Given the description of an element on the screen output the (x, y) to click on. 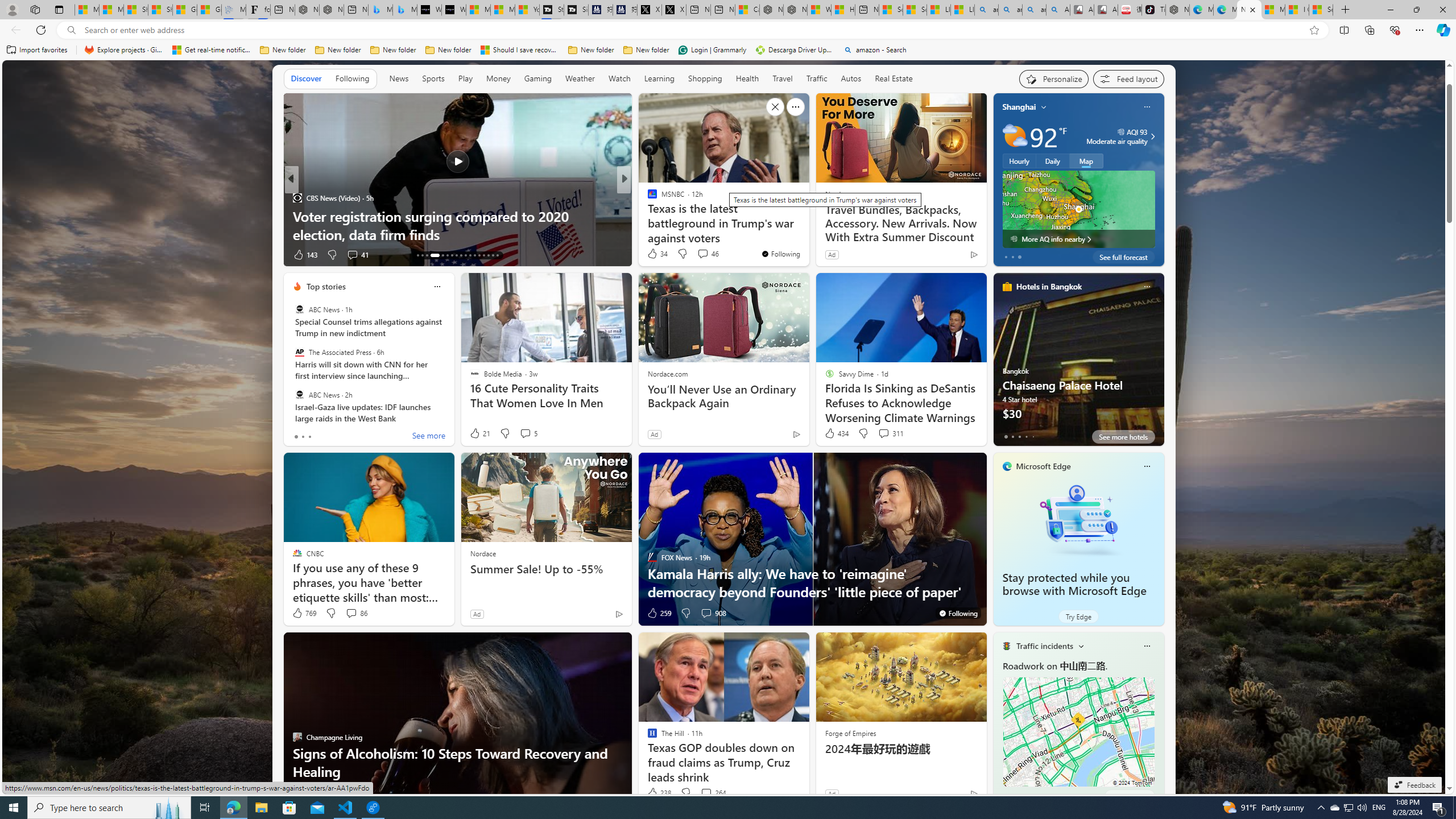
View comments 41 Comment (6, 254)
View comments 26 Comment (704, 254)
ETNT Mind+Body (647, 197)
tab-0 (1005, 795)
View comments 908 Comment (712, 612)
Favorites bar (728, 49)
View comments 23 Comment (698, 254)
157 Like (654, 254)
AutomationID: tab-39 (483, 255)
This story is trending (951, 256)
